Given the description of an element on the screen output the (x, y) to click on. 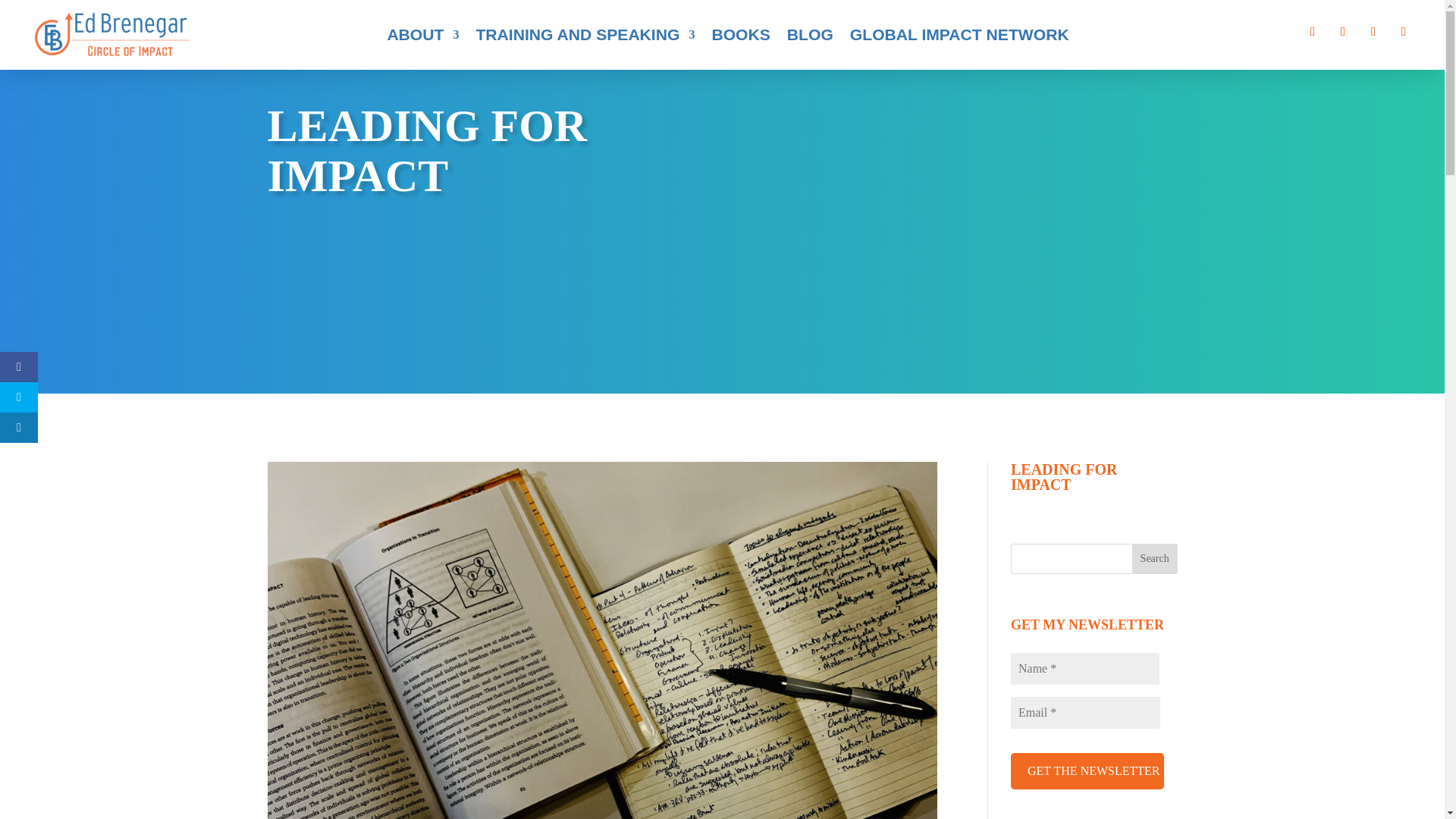
GLOBAL IMPACT NETWORK (959, 34)
TRAINING AND SPEAKING (585, 34)
BLOG (809, 34)
ABOUT (422, 34)
BOOKS (740, 34)
Get The Newsletter (1086, 770)
Follow on Twitter (1342, 31)
Search (1154, 558)
Follow on Facebook (1312, 31)
Follow on Youtube (1403, 31)
Follow on LinkedIn (1373, 31)
